Given the description of an element on the screen output the (x, y) to click on. 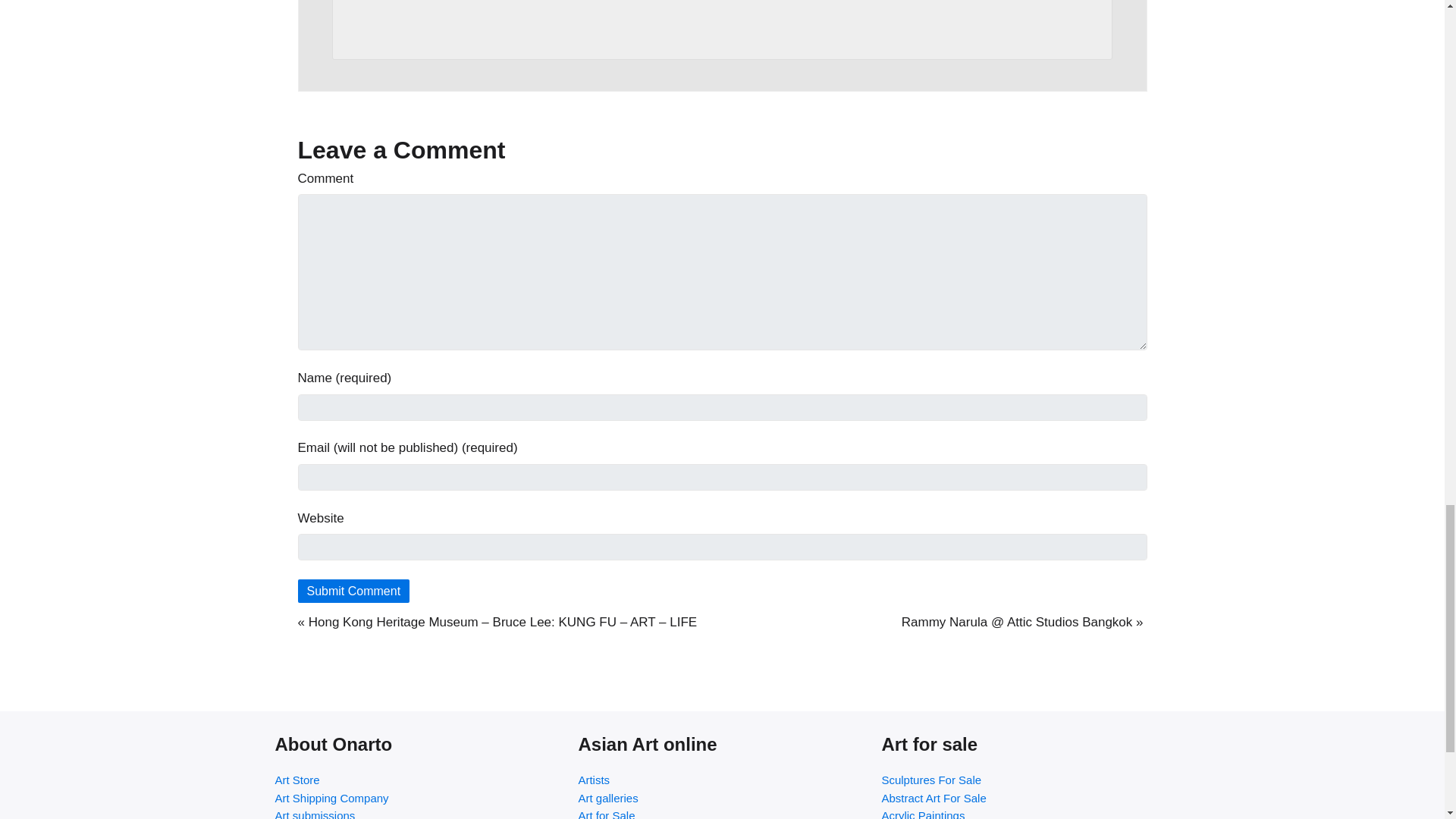
Submit Comment (353, 590)
Art galleries (722, 798)
Submit Comment (353, 590)
Art Store (418, 780)
Artists (722, 780)
Art Shipping Company (418, 798)
Art submissions (418, 812)
